Given the description of an element on the screen output the (x, y) to click on. 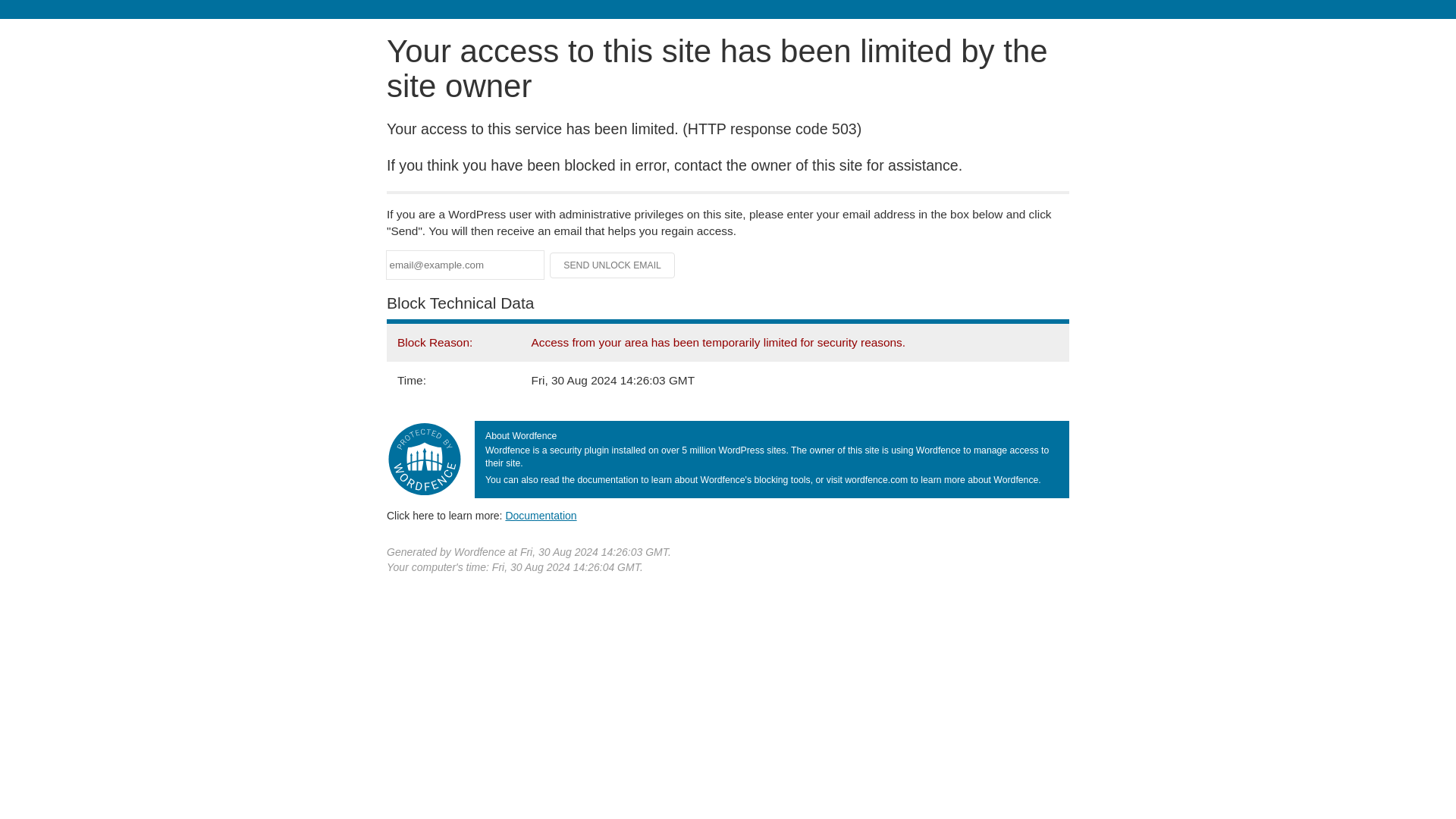
Send Unlock Email (612, 265)
Send Unlock Email (612, 265)
Documentation (540, 515)
